Given the description of an element on the screen output the (x, y) to click on. 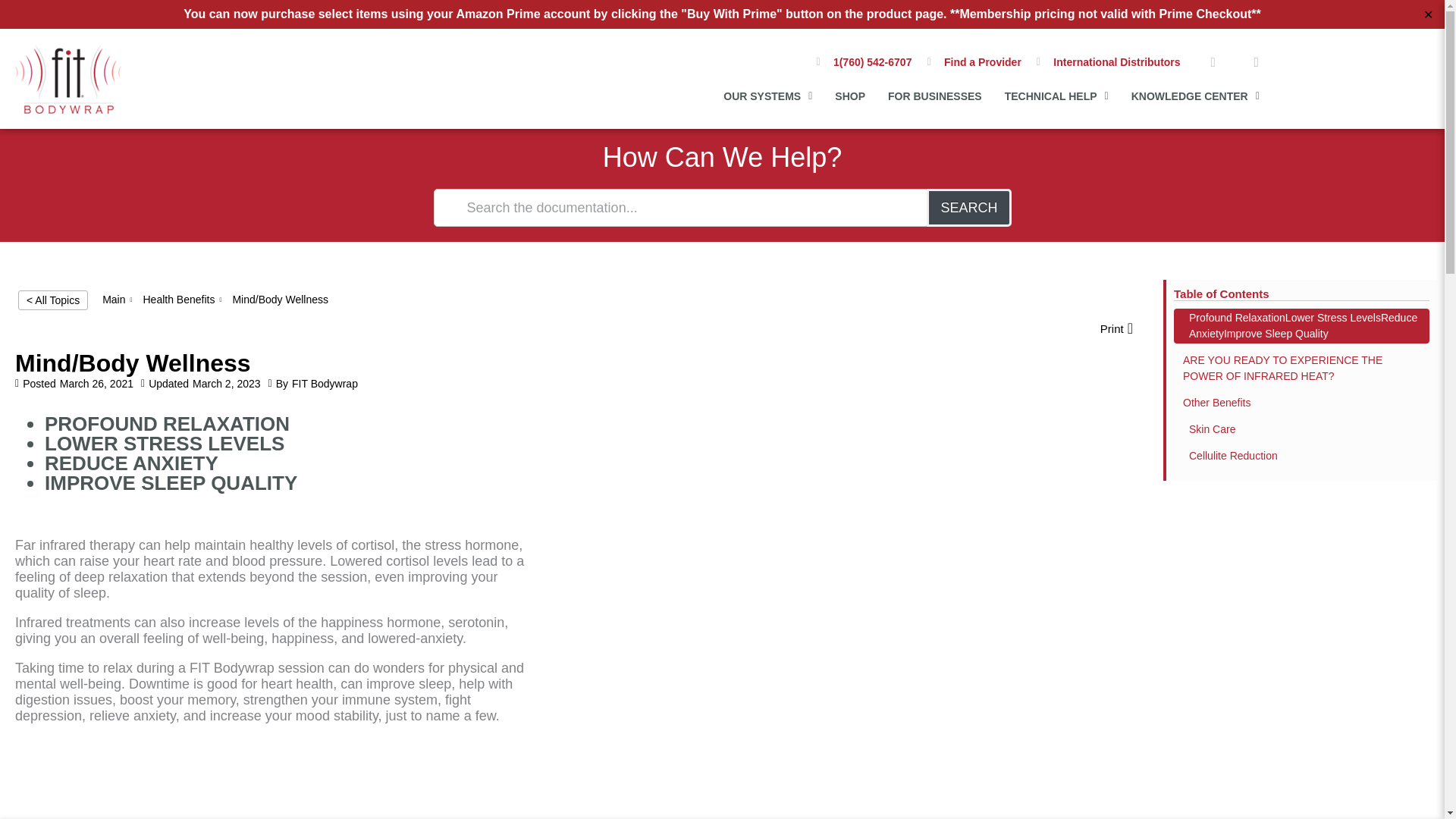
International Distributors (1108, 61)
ARE YOU READY TO EXPERIENCE THE POWER OF INFRARED HEAT? (1301, 368)
Main (113, 299)
TECHNICAL HELP (1055, 95)
KNOWLEDGE CENTER (1195, 95)
Health Benefits (178, 299)
SHOP (850, 95)
Find a Provider (973, 61)
SEARCH (968, 207)
OUR SYSTEMS (767, 95)
FOR BUSINESSES (934, 95)
